Given the description of an element on the screen output the (x, y) to click on. 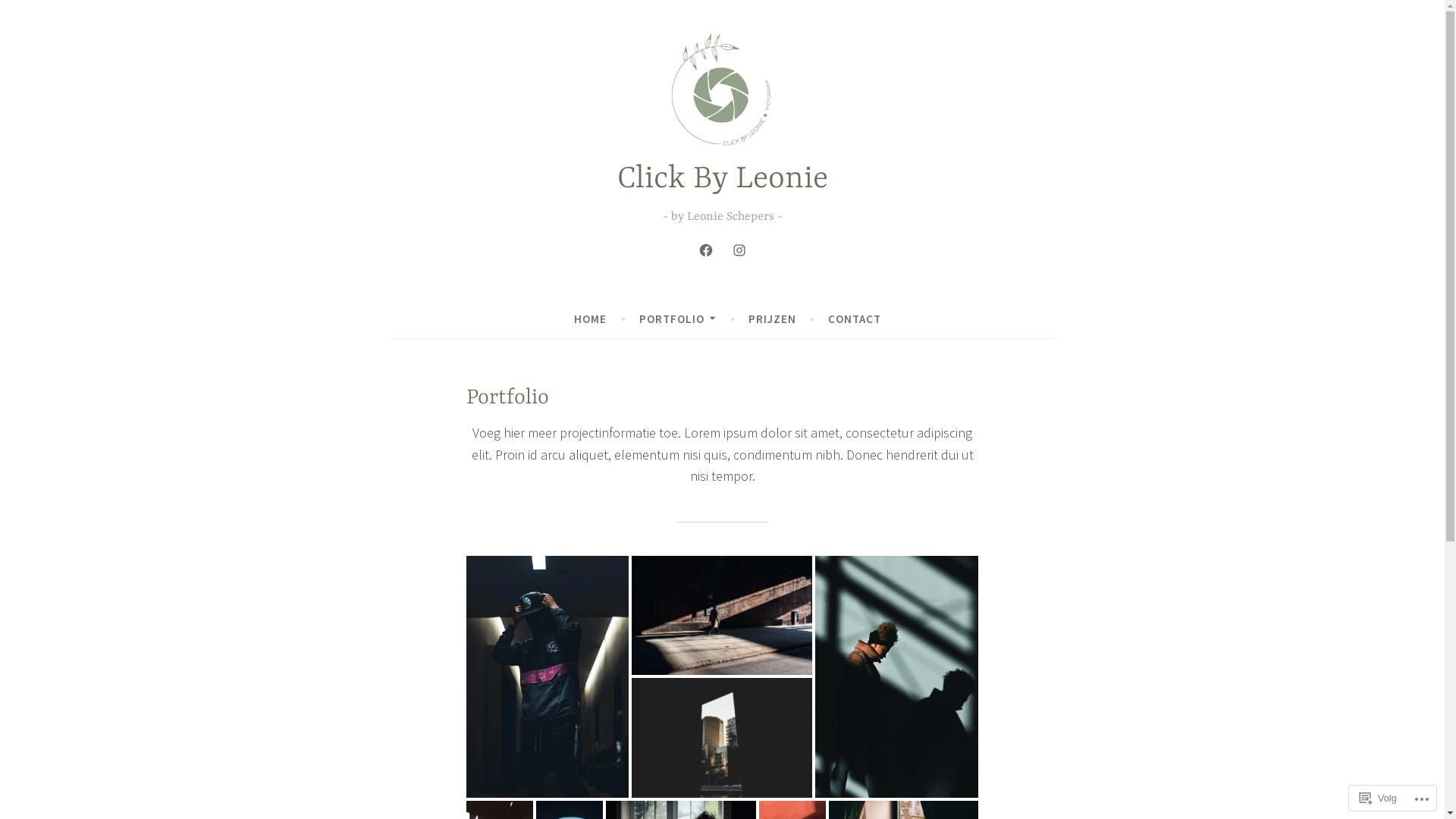
PRIJZEN Element type: text (772, 318)
PORTFOLIO Element type: text (677, 318)
Volg Element type: text (1377, 797)
CONTACT Element type: text (854, 318)
Click By Leonie Element type: text (722, 179)
HOME Element type: text (590, 318)
